Given the description of an element on the screen output the (x, y) to click on. 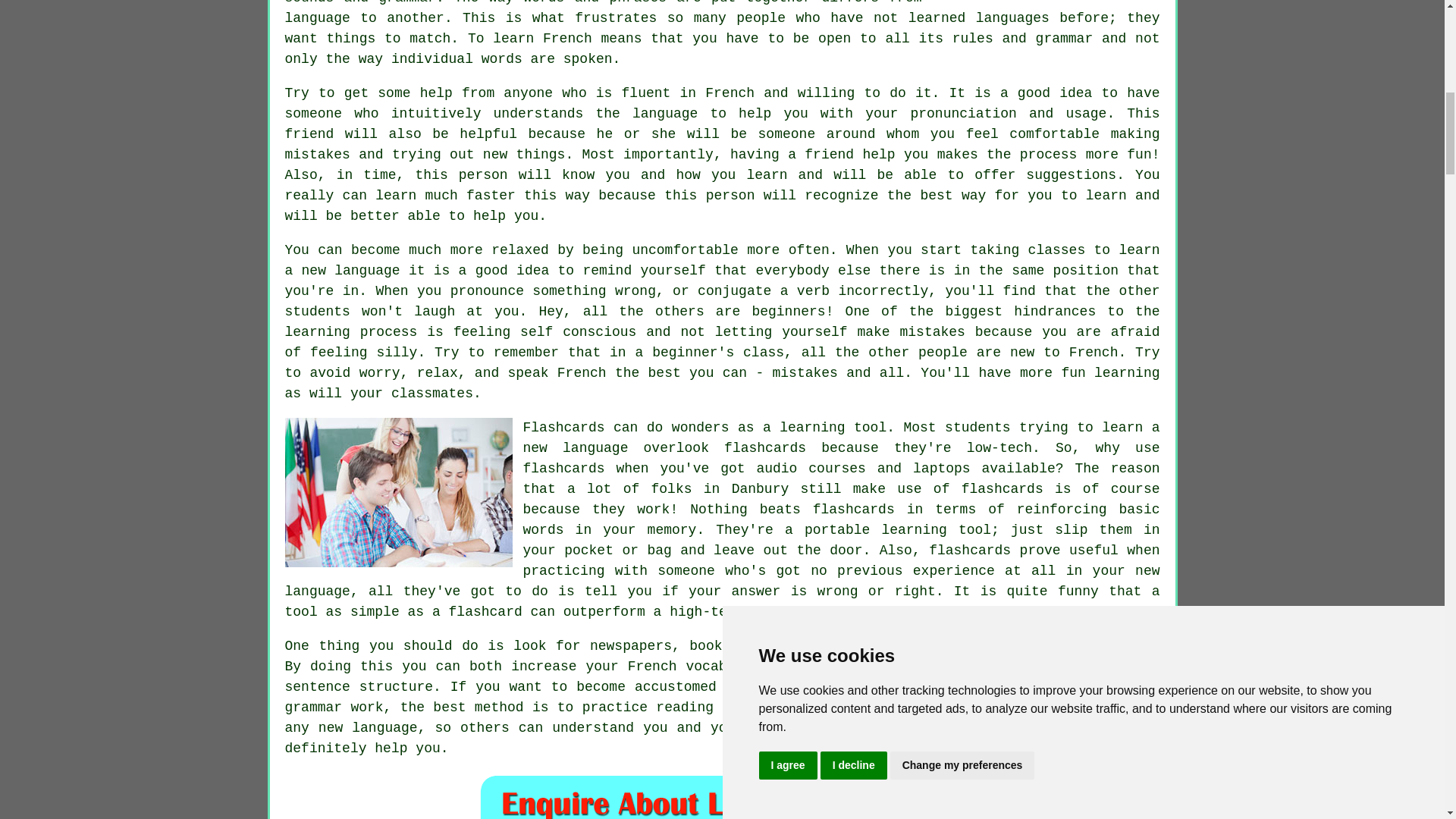
French Lessons Quotes in Danbury Essex (722, 796)
